Given the description of an element on the screen output the (x, y) to click on. 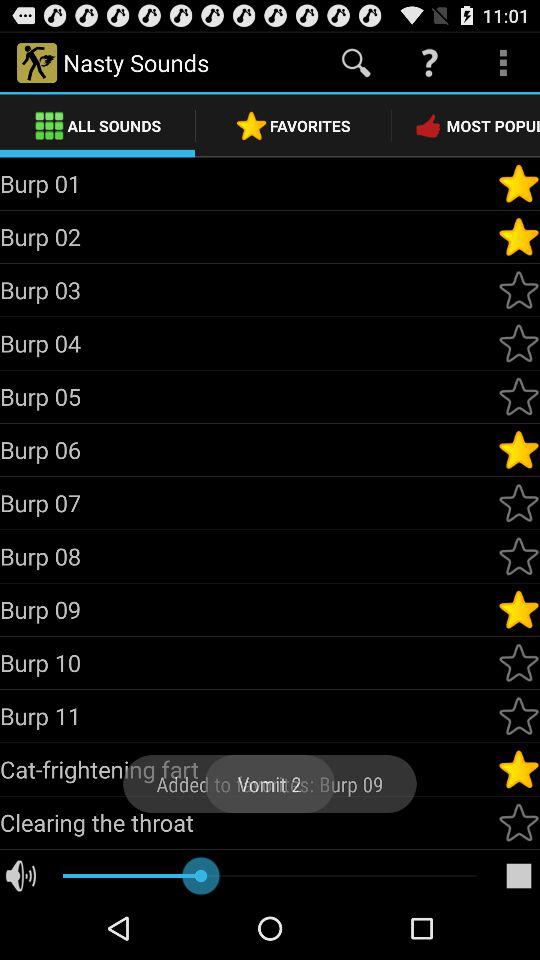
add to favorites (519, 556)
